Given the description of an element on the screen output the (x, y) to click on. 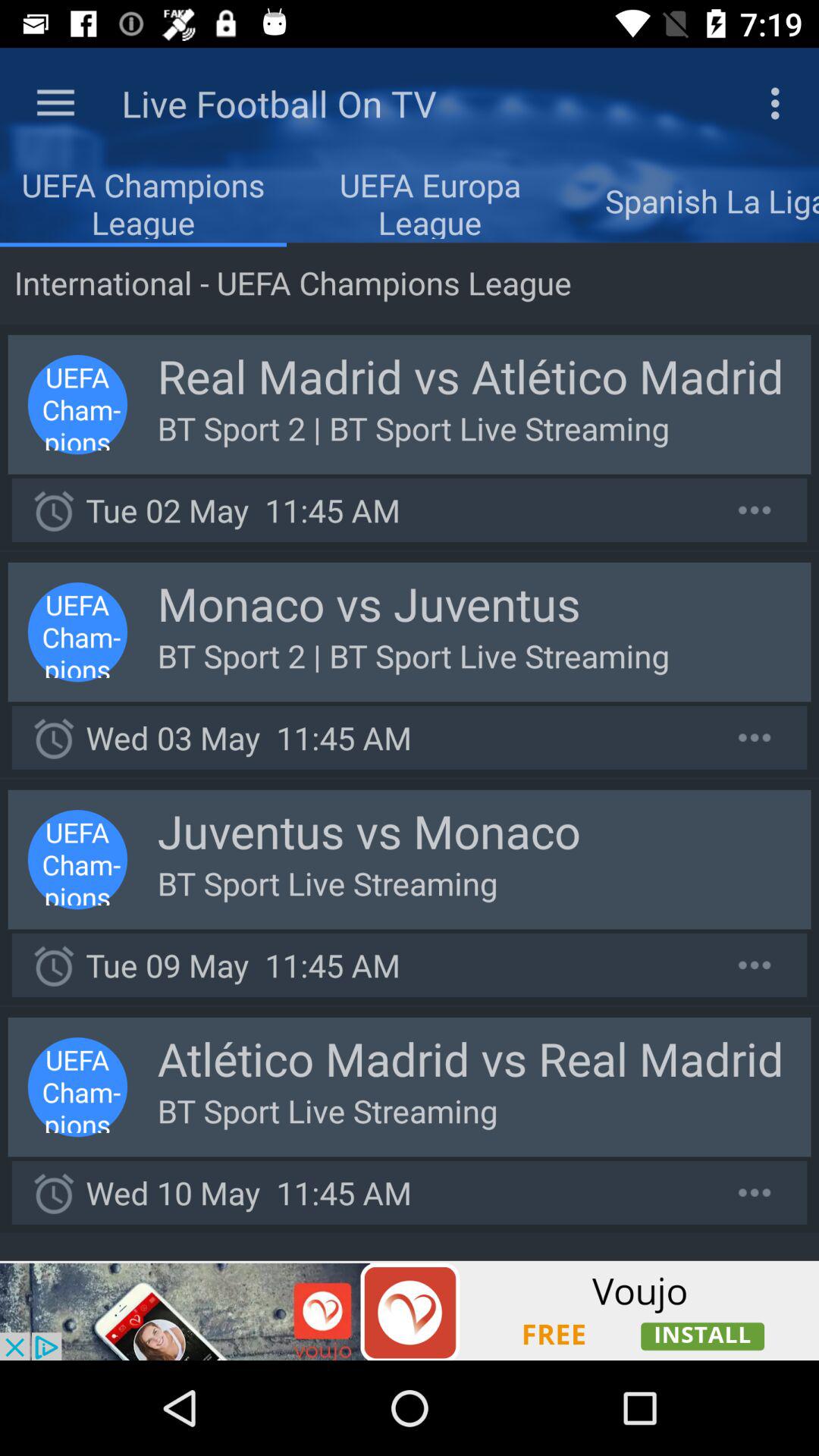
show more options (755, 737)
